Given the description of an element on the screen output the (x, y) to click on. 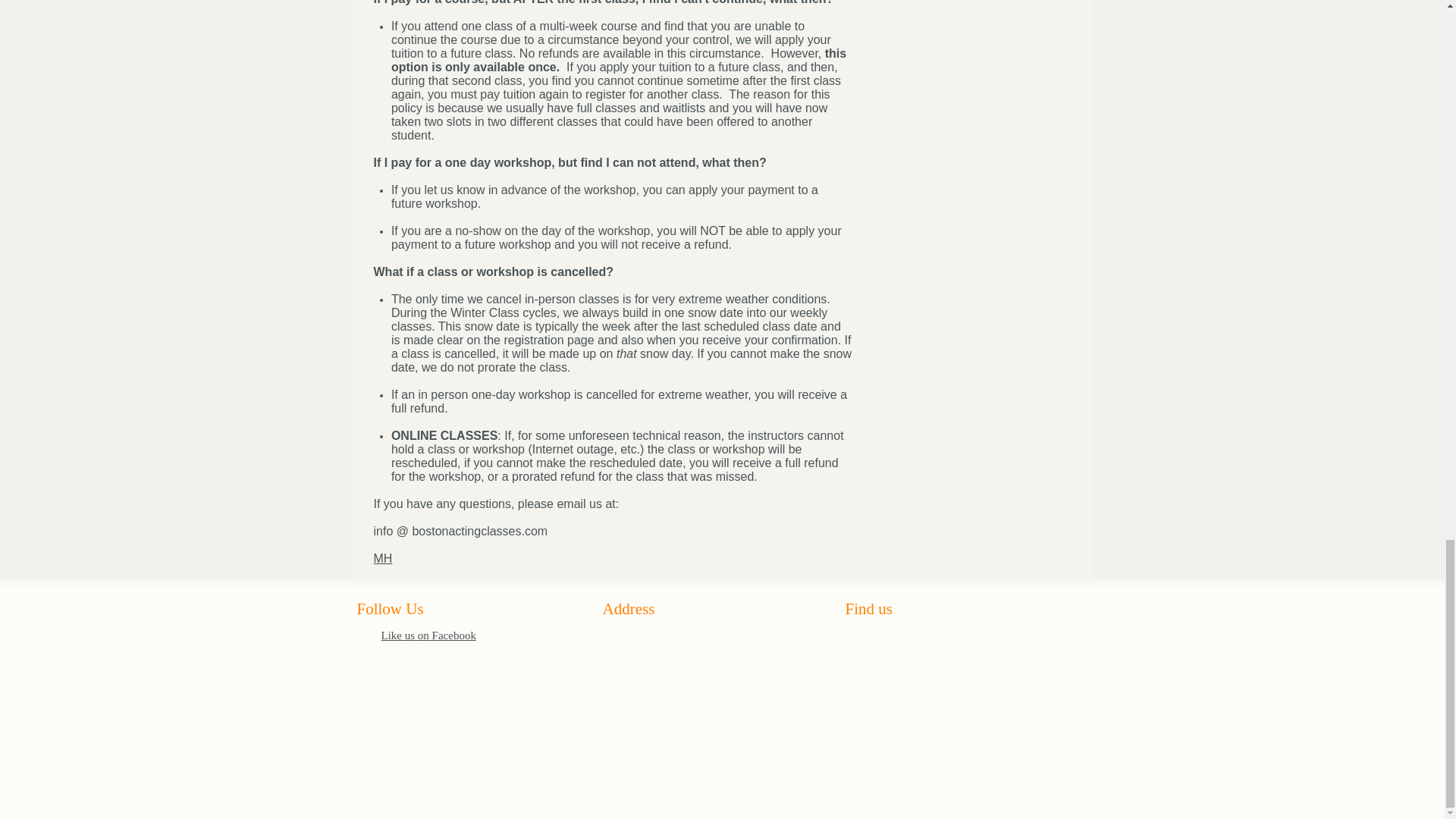
Like us on Facebook (428, 635)
MH (381, 558)
